Given the description of an element on the screen output the (x, y) to click on. 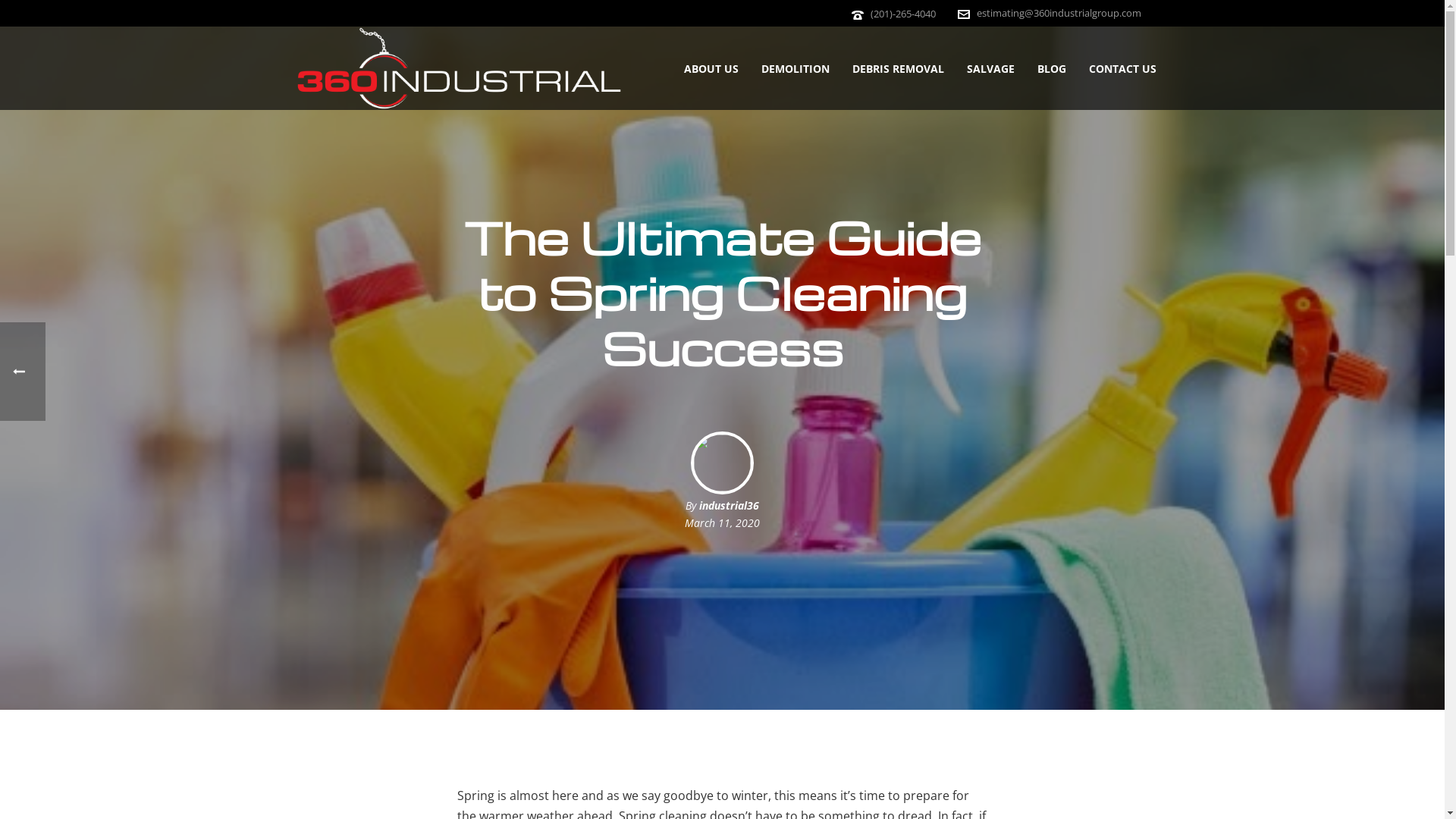
March 11, 2020 Element type: text (721, 522)
DEBRIS REMOVAL Element type: text (897, 68)
CONTACT US Element type: text (1122, 68)
BLOG Element type: text (1051, 68)
industrial36 Element type: text (729, 505)
(201)-265-4040 Element type: text (902, 13)
DEMOLITION Element type: text (794, 68)
SALVAGE Element type: text (990, 68)
estimating@360industrialgroup.com Element type: text (1058, 12)
ABOUT US Element type: text (710, 68)
